Given the description of an element on the screen output the (x, y) to click on. 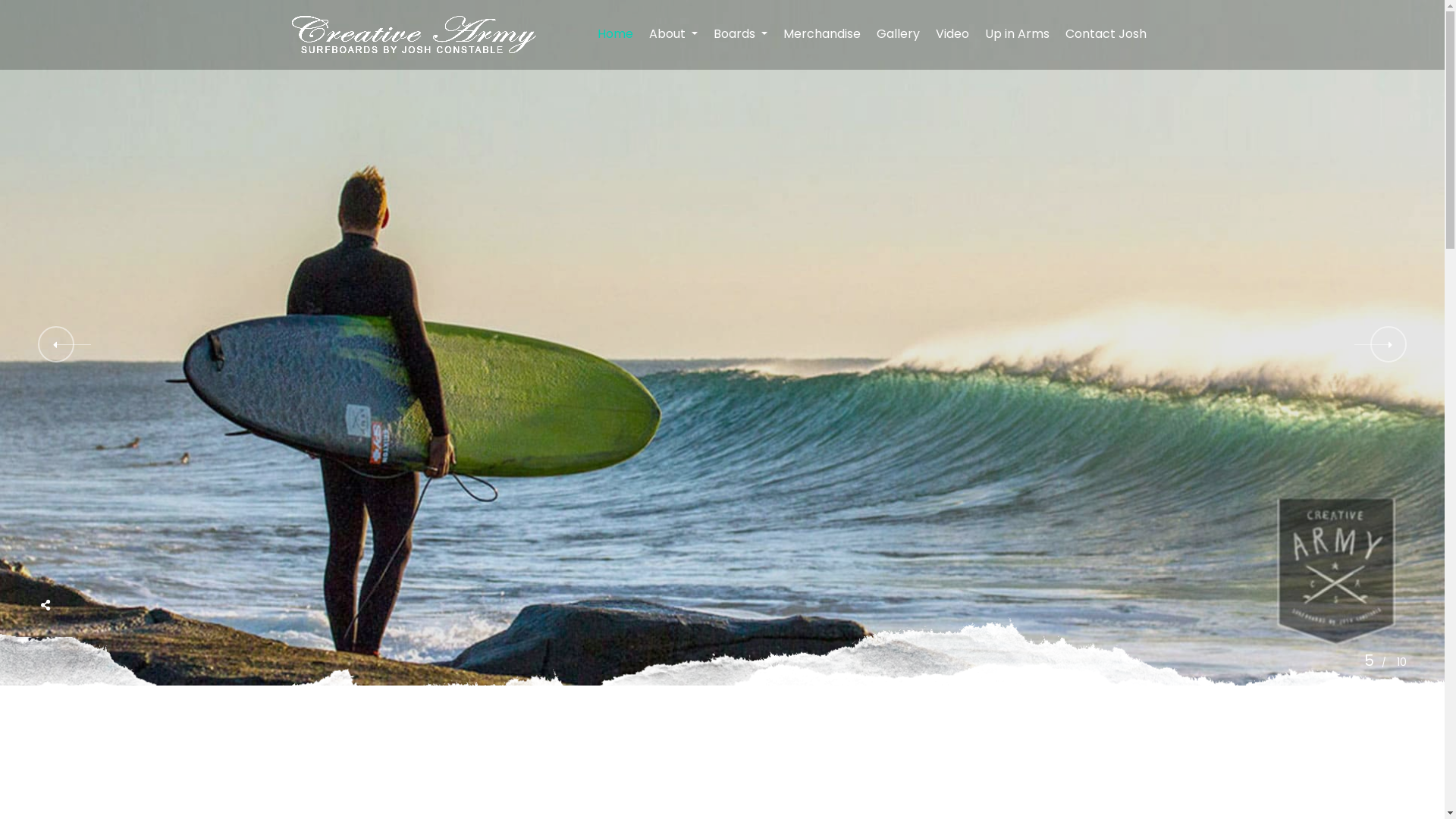
Merchandise Element type: text (821, 34)
Gallery Element type: text (898, 34)
Contact Josh Element type: text (1105, 34)
Home Element type: text (614, 34)
Up in Arms Element type: text (1016, 34)
Boards Element type: text (740, 34)
Video Element type: text (952, 34)
About Element type: text (672, 34)
